Given the description of an element on the screen output the (x, y) to click on. 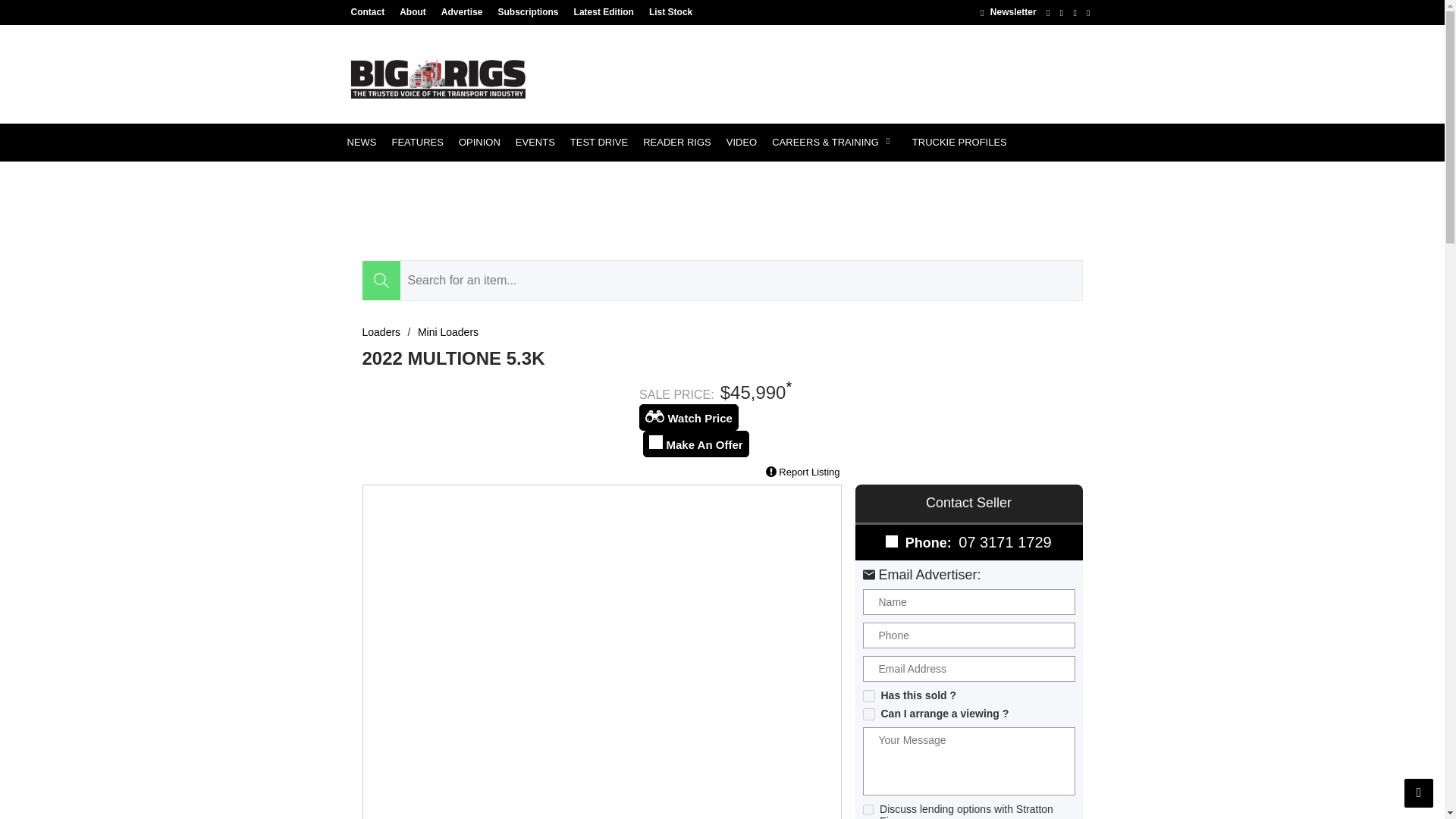
3rd party ad content (817, 74)
on (869, 714)
Newsletter (1007, 11)
on (869, 695)
MARKETPLACE (383, 180)
Advertise (461, 11)
Report The shape of a report lisitng icon (770, 471)
1 (869, 809)
TEST DRIVE (598, 142)
List Stock (667, 11)
Watch Price The shape of a pair of binoculars icon (654, 416)
Mini Loaders (448, 331)
VIDEO (741, 142)
OPINION (479, 142)
